Given the description of an element on the screen output the (x, y) to click on. 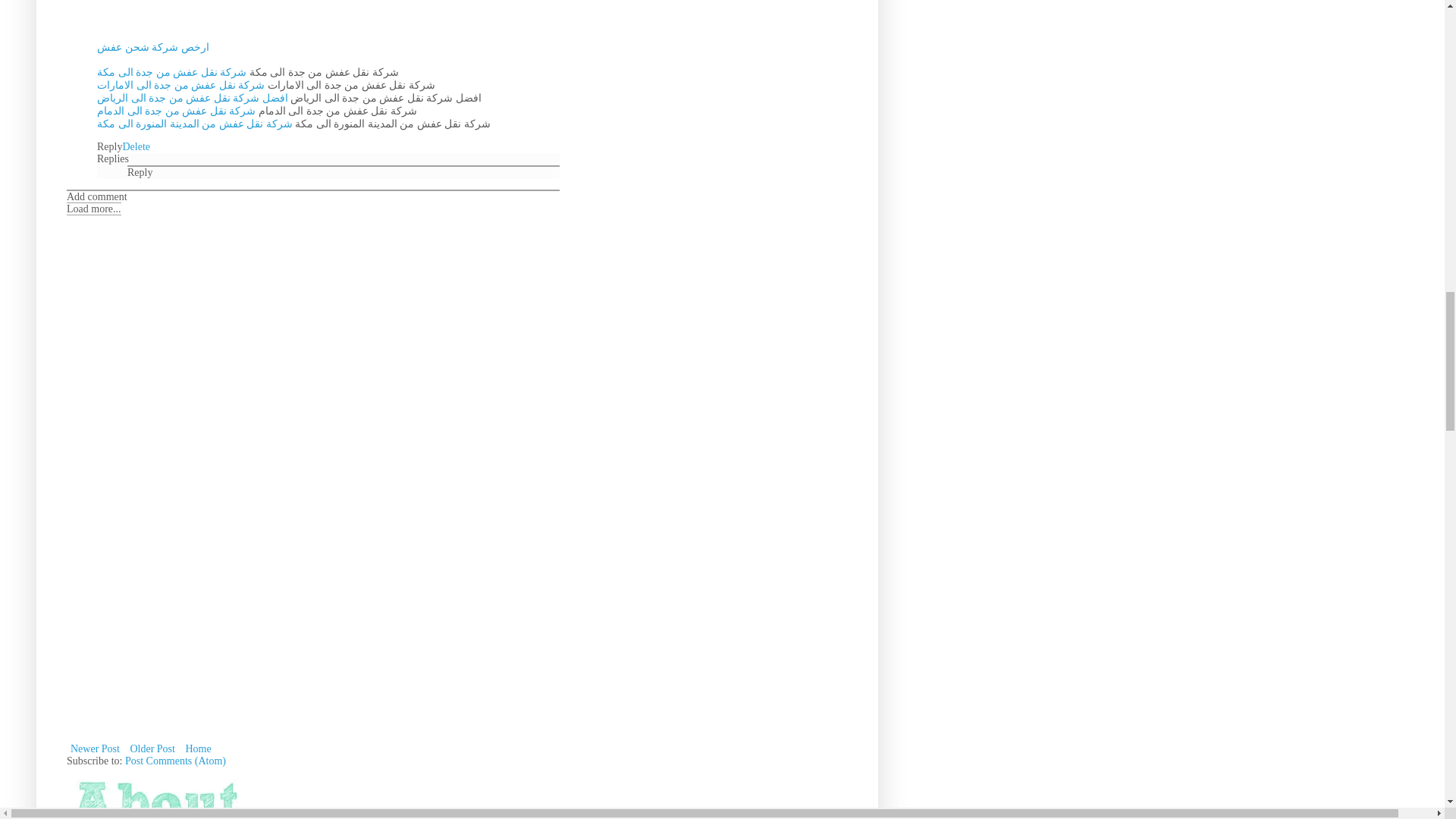
Newer Post (94, 748)
Healthy (156, 793)
Older Post (152, 748)
Advertisement (180, 645)
